Given the description of an element on the screen output the (x, y) to click on. 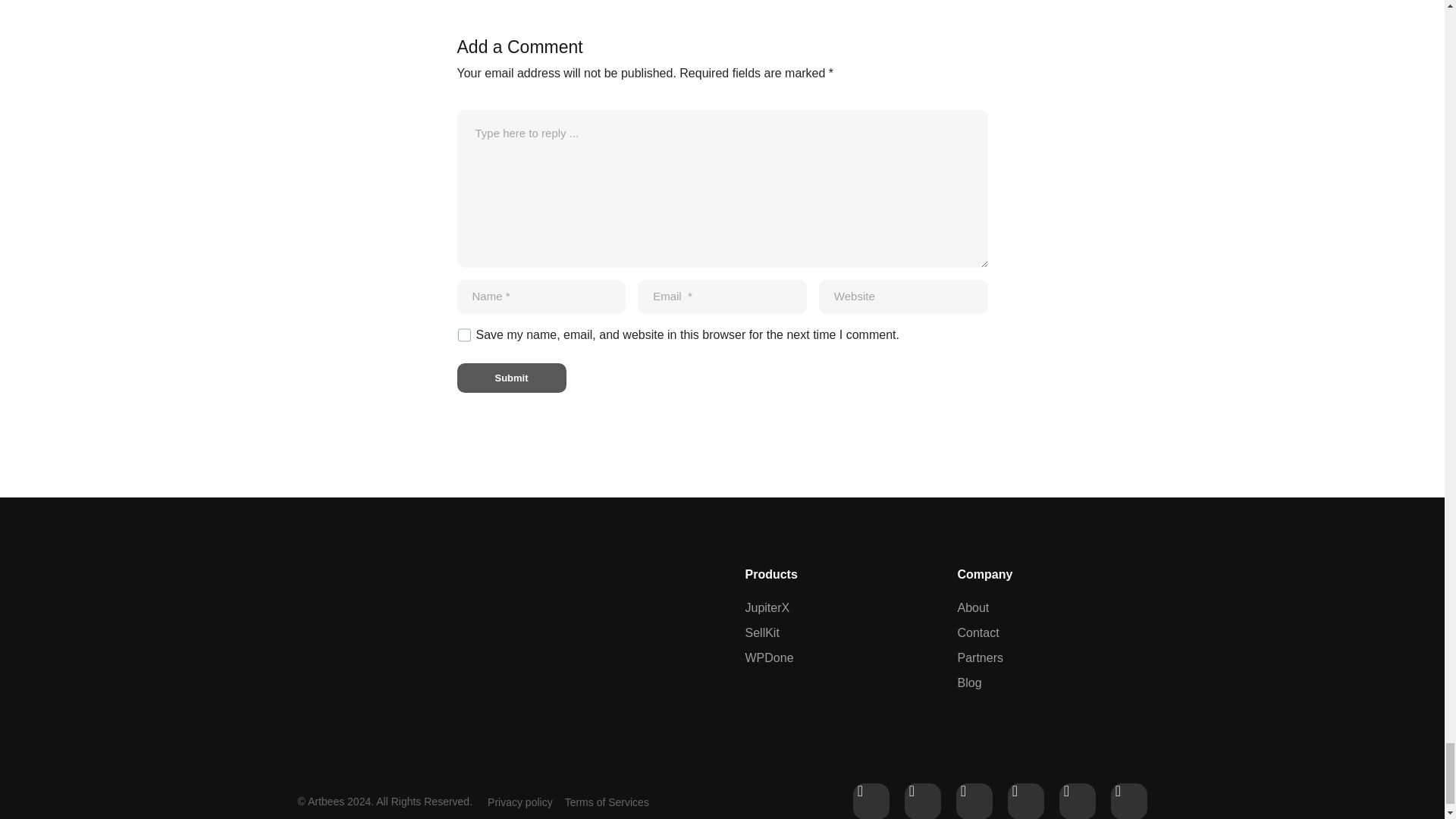
WPDone (835, 658)
Submit (511, 378)
yes (462, 334)
SellKit (835, 633)
JupiterX (835, 607)
